Given the description of an element on the screen output the (x, y) to click on. 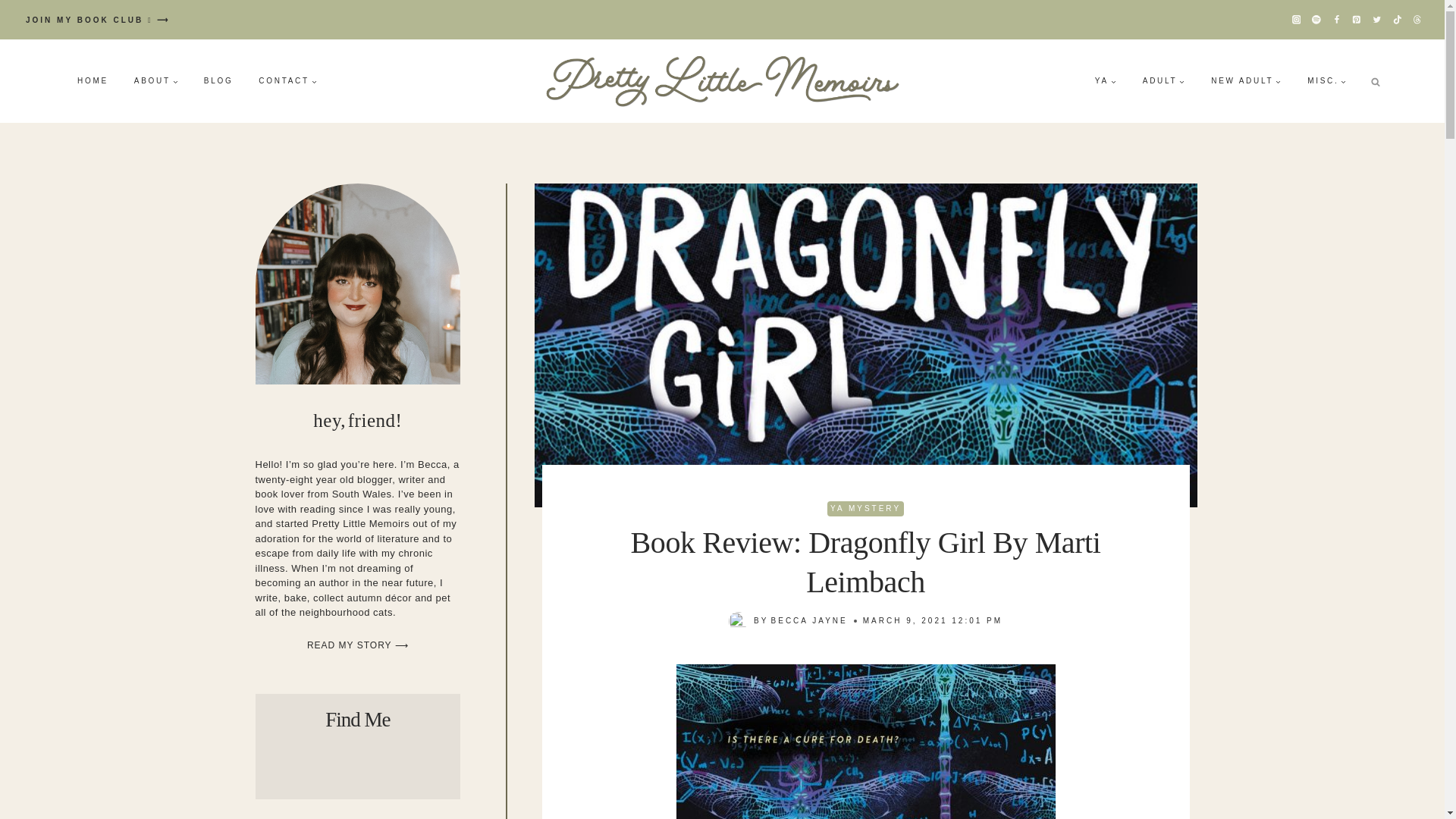
BLOG (218, 80)
ABOUT (155, 80)
HOME (92, 80)
51178515 (866, 741)
CONTACT (288, 80)
YA (1105, 80)
